Given the description of an element on the screen output the (x, y) to click on. 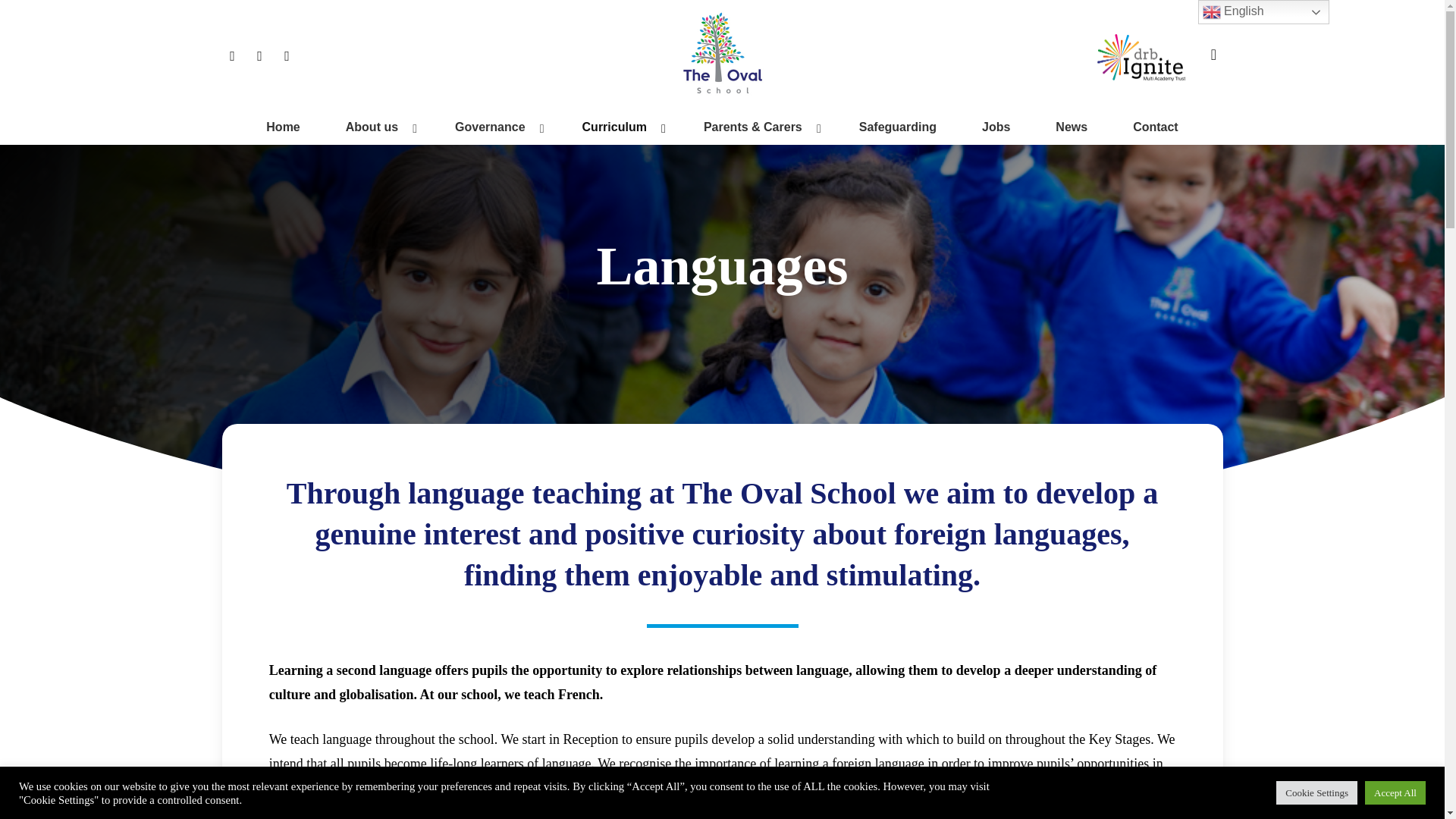
About us (377, 127)
Governance (495, 127)
email (286, 54)
pinterest (232, 54)
phone (259, 54)
search (1213, 54)
Home (282, 127)
